Given the description of an element on the screen output the (x, y) to click on. 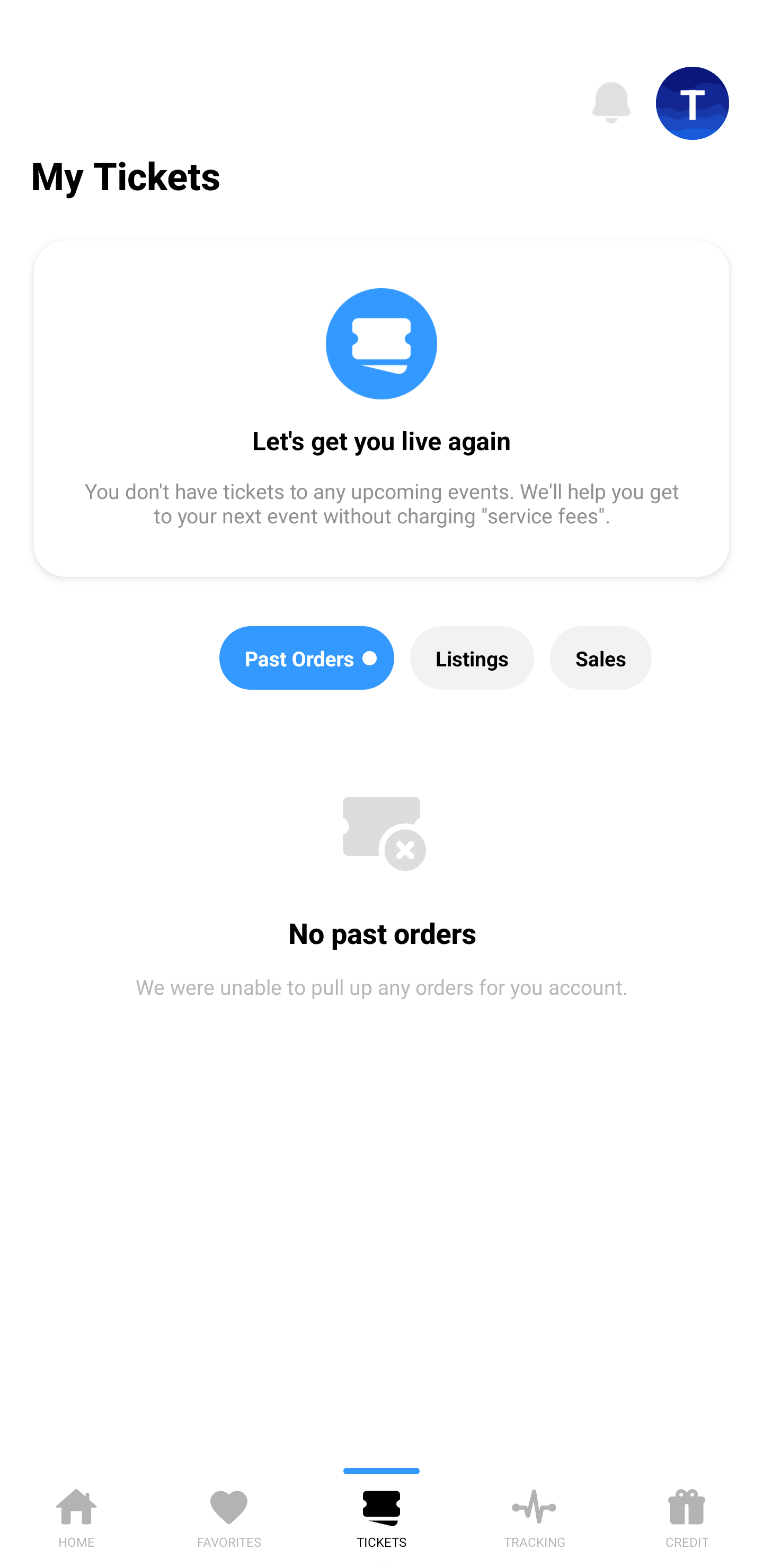
T (692, 103)
Past Orders (306, 657)
Listings (472, 657)
Sales (600, 657)
HOME (76, 1515)
FAVORITES (228, 1515)
TICKETS (381, 1515)
TRACKING (533, 1515)
CREDIT (686, 1515)
